Given the description of an element on the screen output the (x, y) to click on. 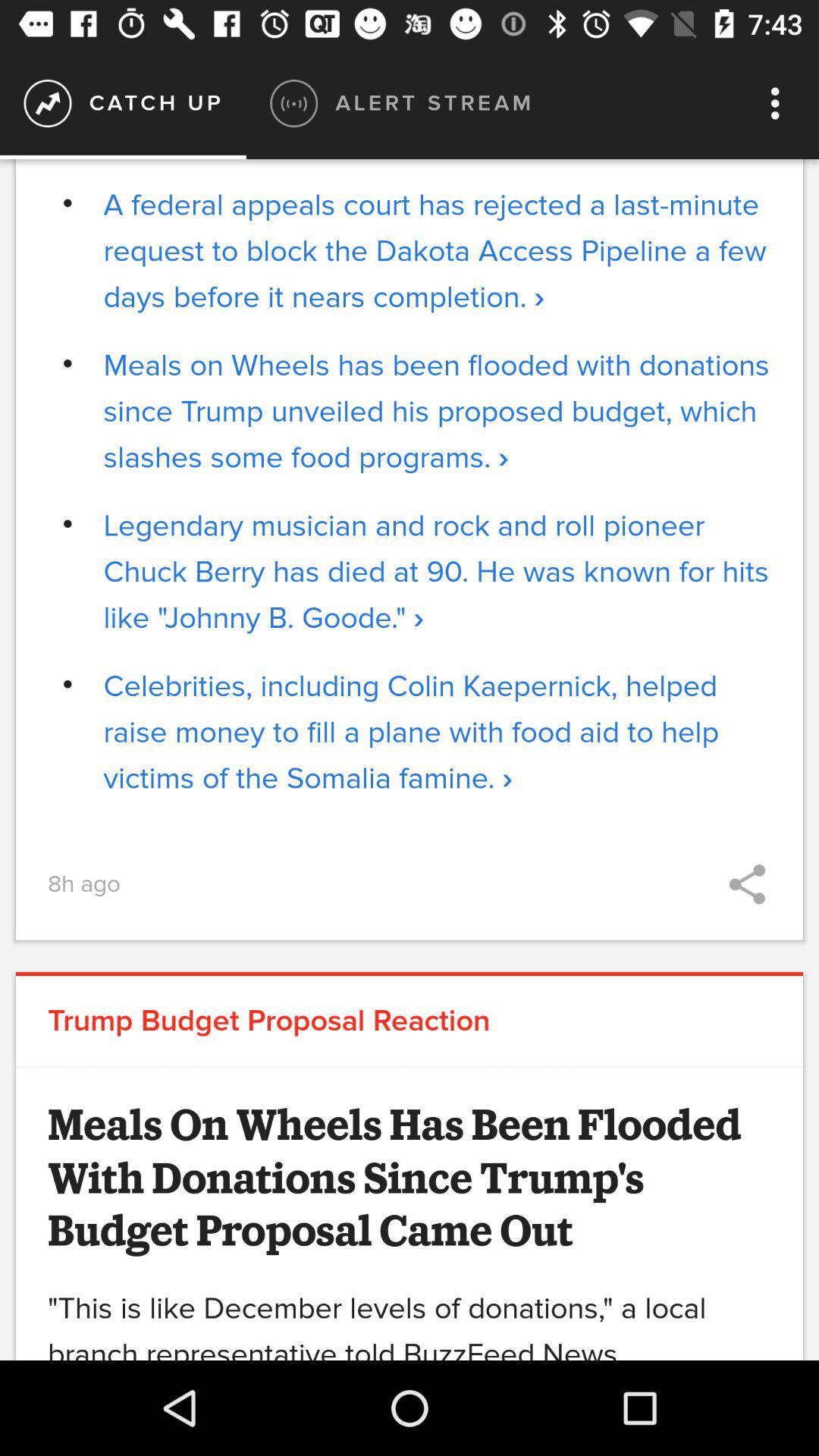
swipe until the legendary musician and (437, 571)
